Given the description of an element on the screen output the (x, y) to click on. 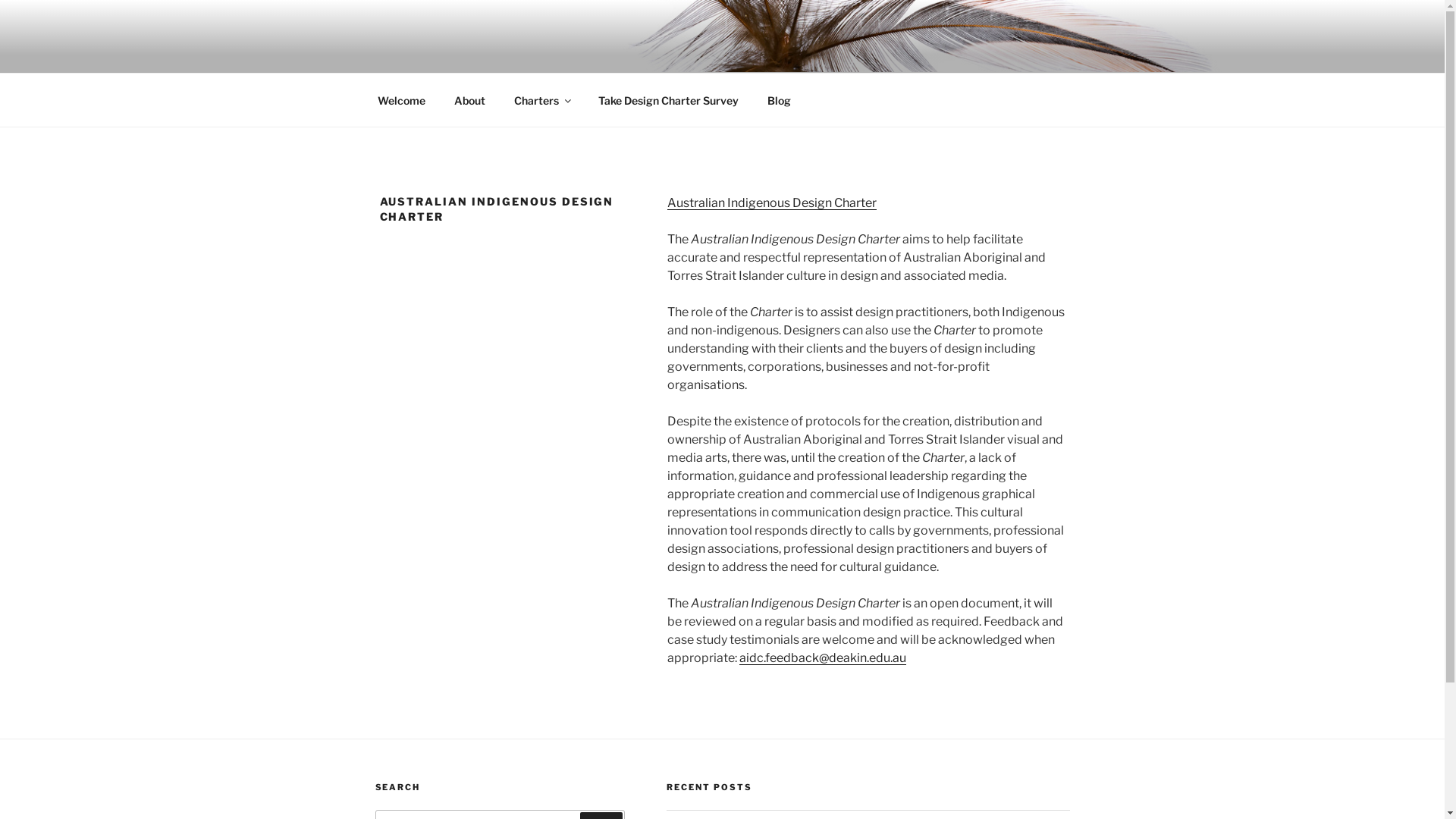
About Element type: text (469, 100)
aidc.feedback@deakin.edu.au Element type: text (822, 657)
IDC Element type: text (407, 52)
Welcome Element type: text (401, 100)
Take Design Charter Survey Element type: text (668, 100)
Blog Element type: text (778, 100)
Charters Element type: text (541, 100)
Australian Indigenous Design Charter Element type: text (771, 202)
